Given the description of an element on the screen output the (x, y) to click on. 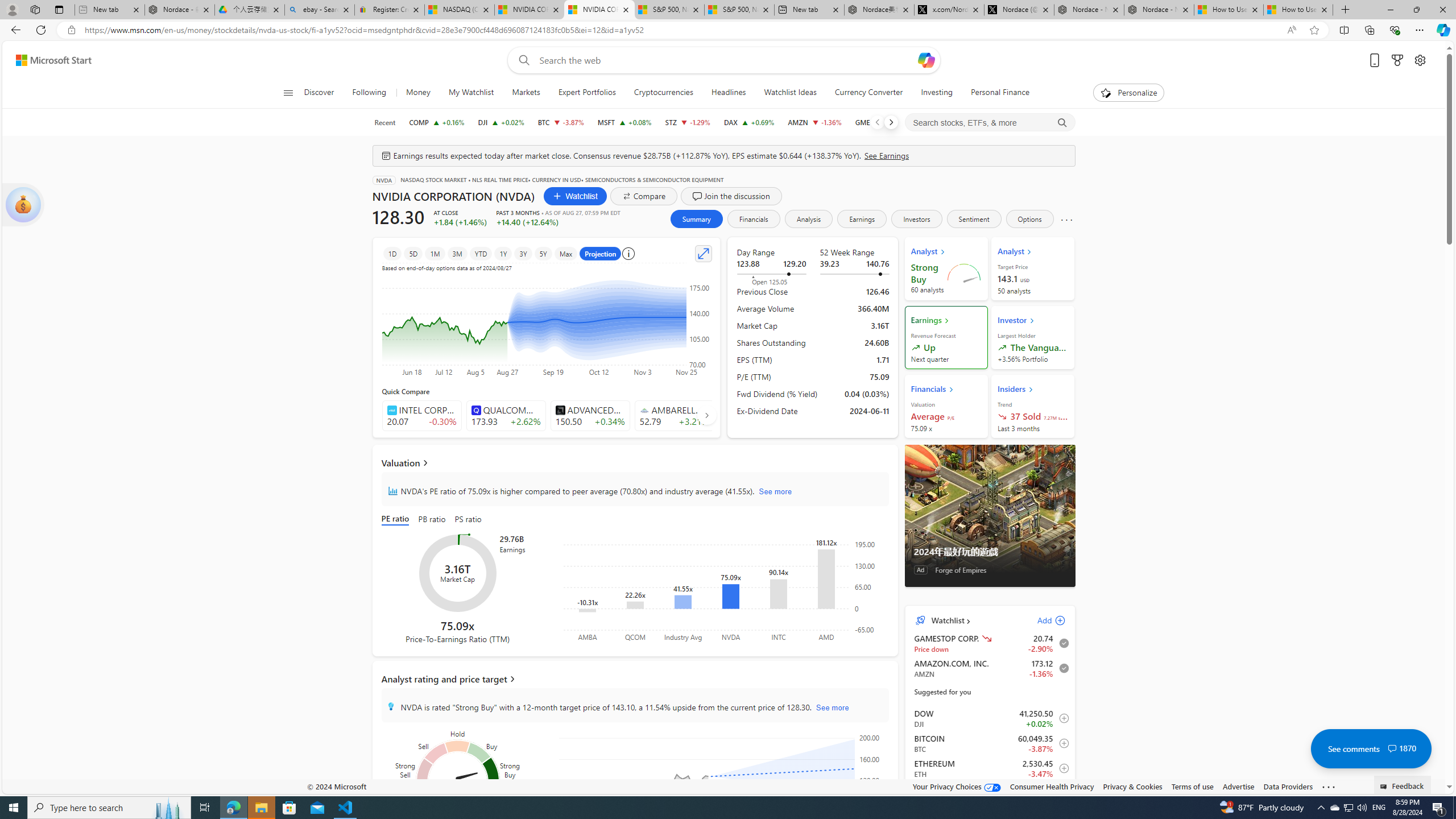
Personal Finance (995, 92)
Privacy & Cookies (1131, 786)
My Watchlist (470, 92)
Enter your search term (726, 59)
Watchlist Ideas (789, 92)
Add to Watchlist (1061, 793)
Currency Converter (868, 92)
Search stocks, ETFs, & more (989, 122)
Investing (936, 92)
AutomationID: finance_carousel_navi_right (706, 415)
Remove from watchlist (1061, 668)
